Given the description of an element on the screen output the (x, y) to click on. 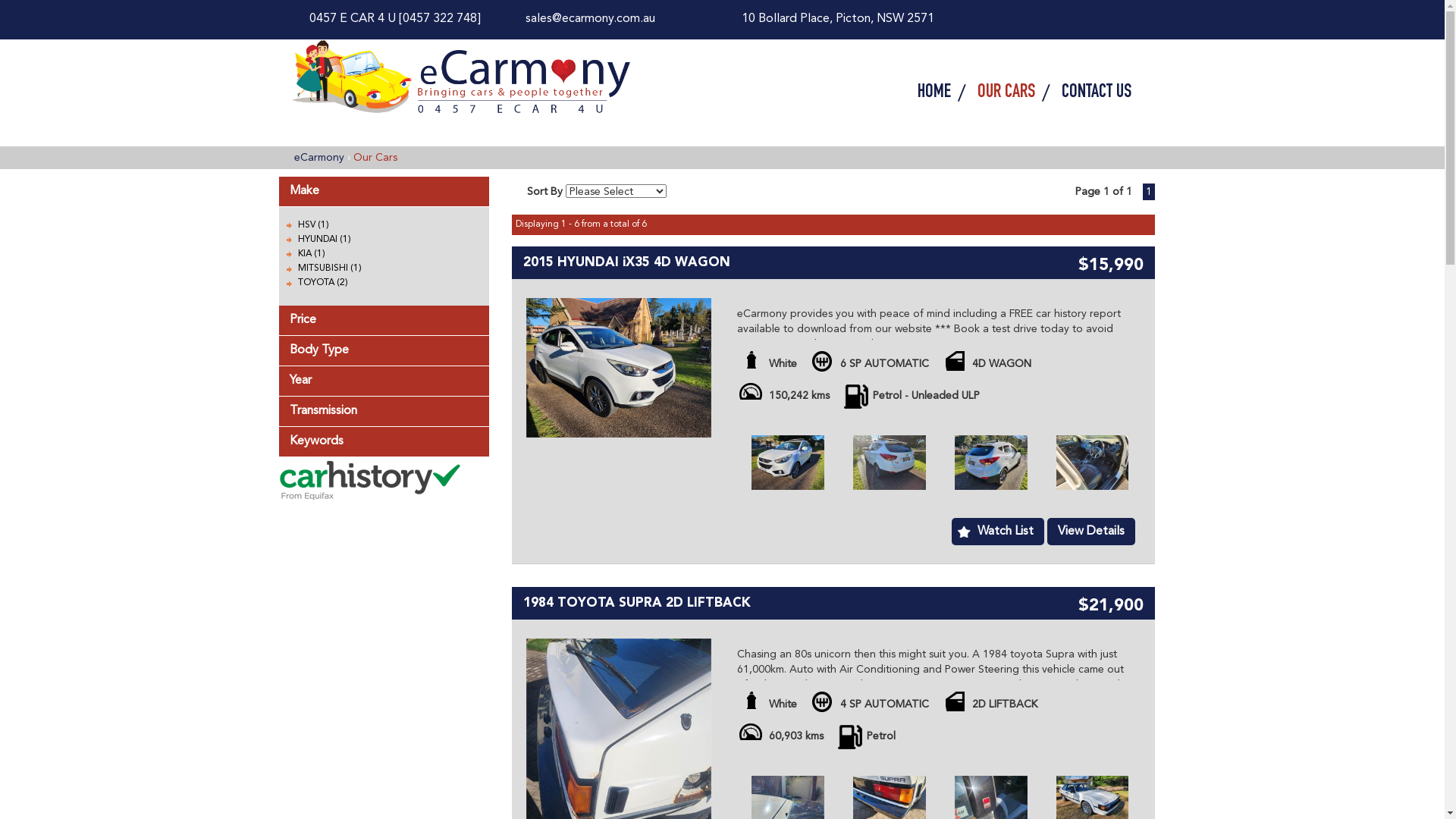
eCarmony Element type: text (319, 157)
View Details Element type: text (1091, 531)
2015-HYUNDAI-iX35 Element type: hover (787, 462)
sales@ecarmony.com.au Element type: text (589, 18)
1984 TOYOTA SUPRA 2D LIFTBACK Element type: text (636, 602)
MITSUBISHI (1) Element type: text (328, 268)
2015 HYUNDAI iX35 4D WAGON Element type: text (626, 262)
Watch List Element type: text (997, 531)
2015-HYUNDAI-iX35 Element type: hover (990, 462)
HOME Element type: text (935, 92)
$21,900 Element type: text (1110, 607)
TOYOTA (2) Element type: text (322, 282)
2015-HYUNDAI-iX35 Element type: hover (618, 366)
KIA (1) Element type: text (310, 253)
HSV (1) Element type: text (312, 224)
HYUNDAI (1) Element type: text (323, 239)
CONTACT US Element type: text (1089, 92)
$15,990 Element type: text (1110, 267)
2015-HYUNDAI-iX35 Element type: hover (1092, 462)
Our Cars Element type: text (375, 157)
10 Bollard Place, Picton, NSW 2571 Element type: text (837, 18)
0457 E CAR 4 U [0457 322 748] Element type: text (394, 18)
OUR CARS Element type: text (1008, 92)
2015-HYUNDAI-iX35 Element type: hover (889, 462)
1 Element type: text (1148, 191)
